Given the description of an element on the screen output the (x, y) to click on. 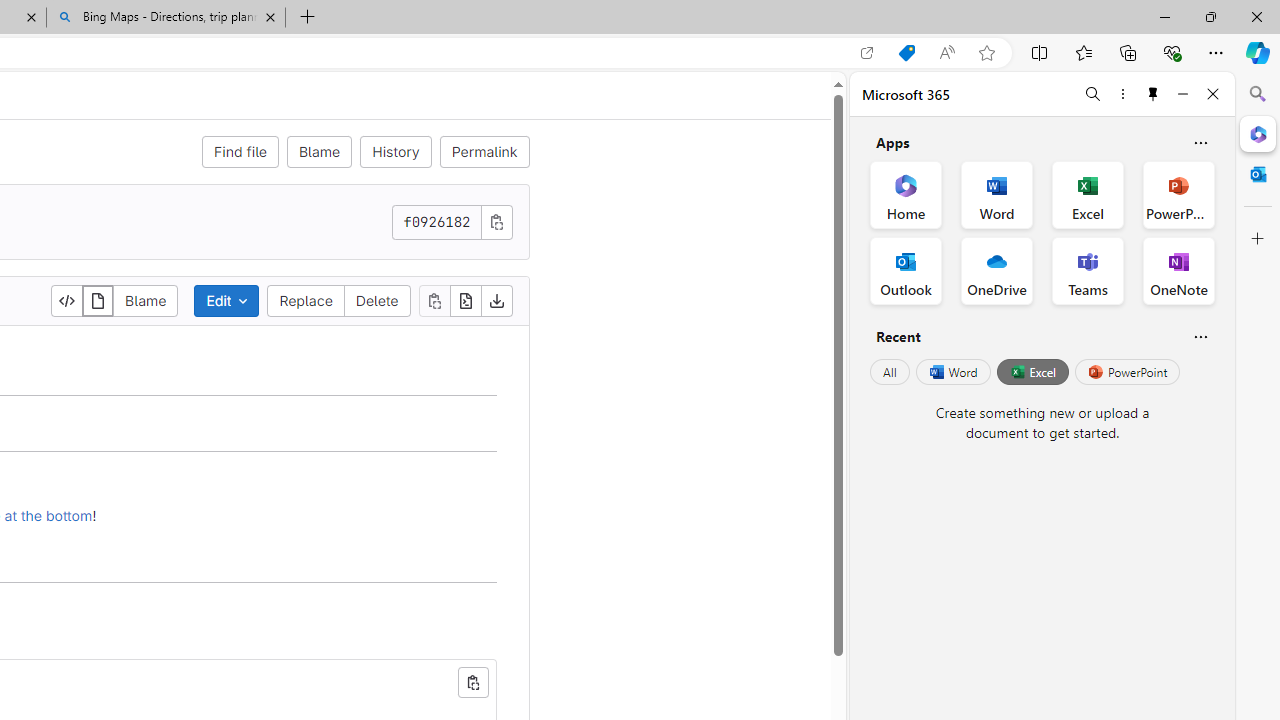
PowerPoint (1127, 372)
Copy commit SHA (496, 221)
Teams Office App (1087, 270)
Permalink (484, 151)
Display source (67, 300)
Display rendered file (98, 300)
Open raw (465, 300)
Open in app (867, 53)
Word Office App (996, 194)
